Given the description of an element on the screen output the (x, y) to click on. 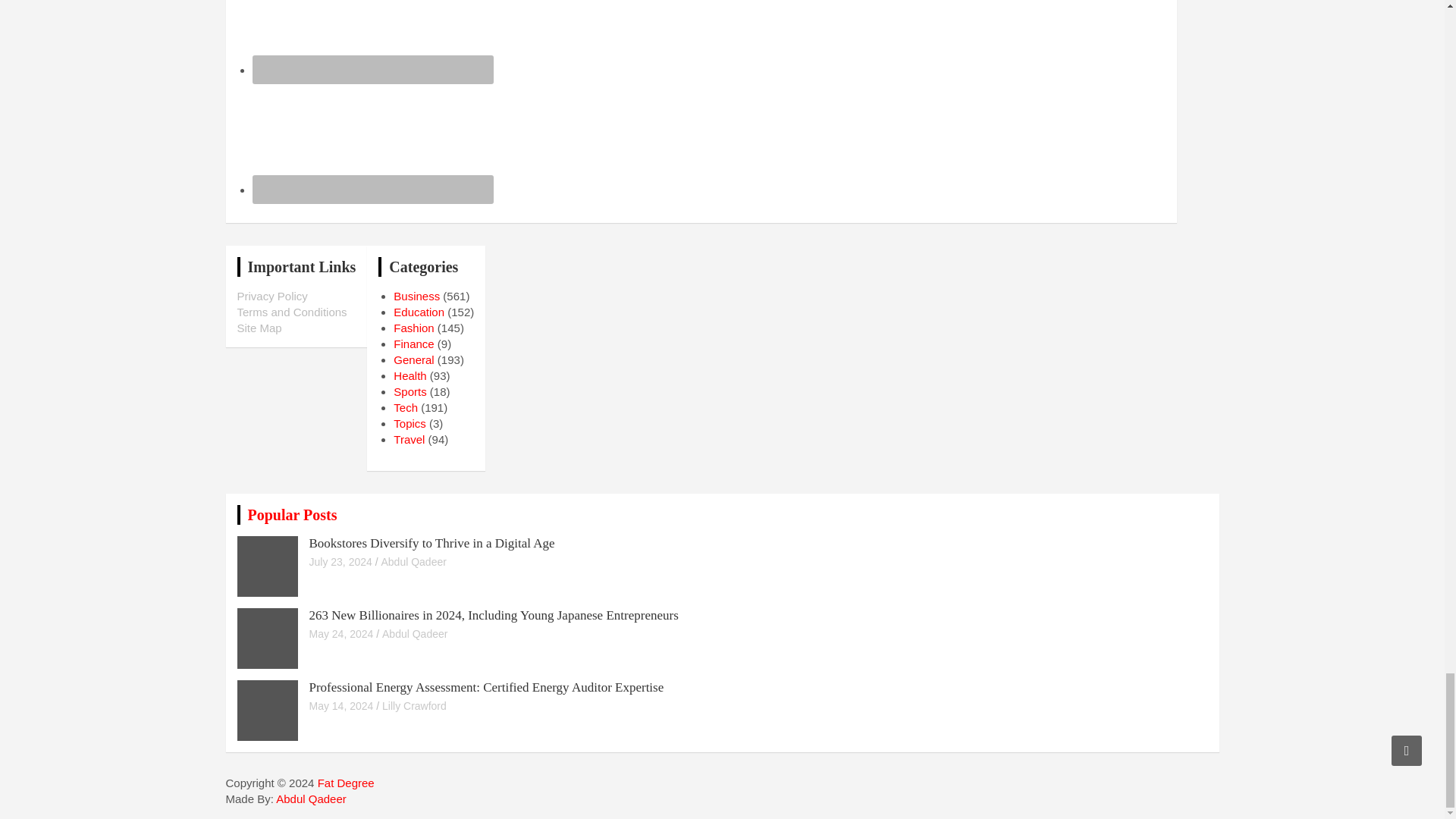
Tumblr (372, 37)
Twitter (372, 137)
